Given the description of an element on the screen output the (x, y) to click on. 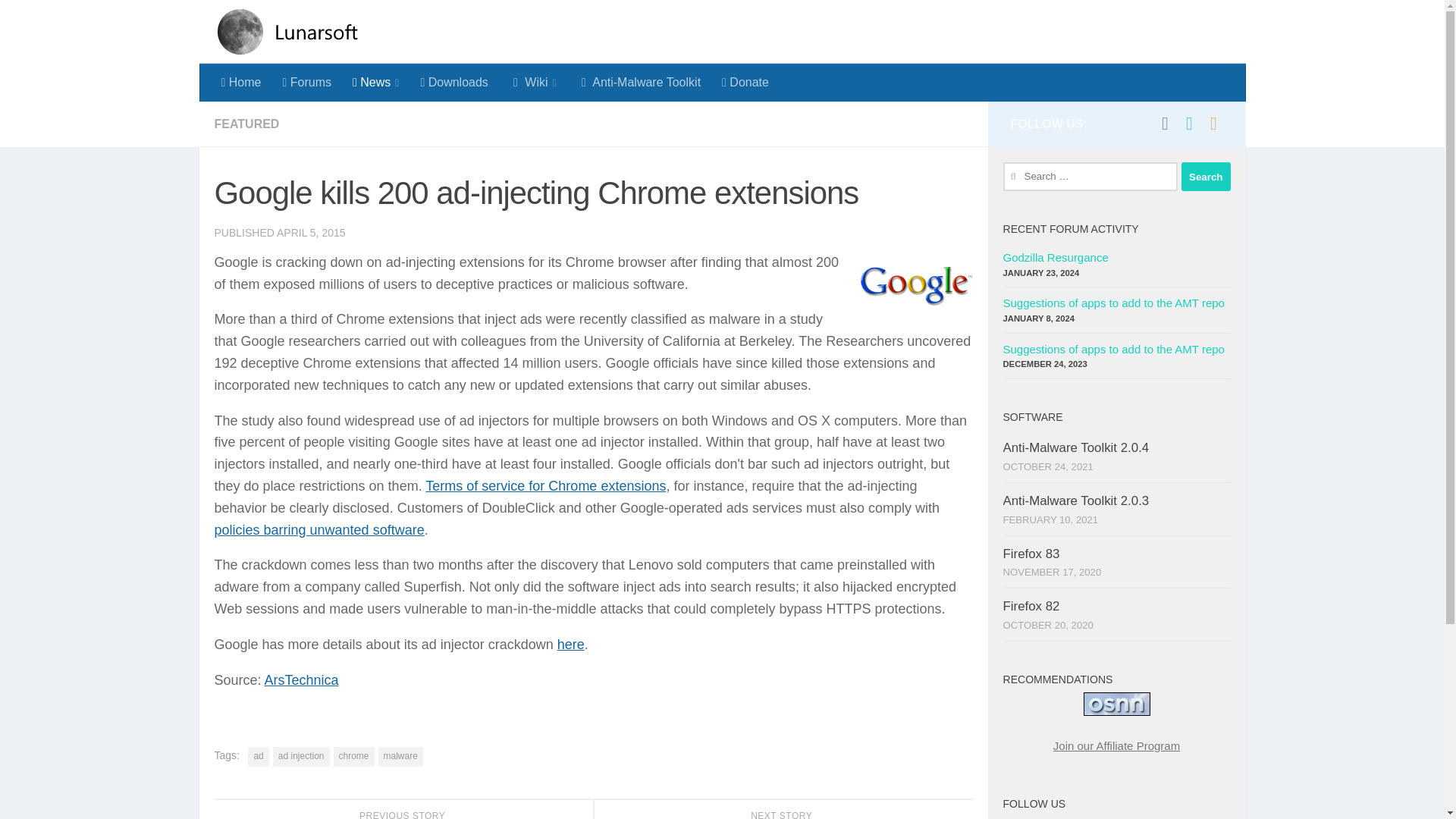
Wiki (533, 82)
Terms of service for Chrome extensions (545, 485)
Skip to content (63, 20)
policies barring unwanted software (318, 529)
Follow us on Facebook-square (1164, 123)
Home (241, 82)
chrome (353, 756)
Search (1205, 176)
Follow our RSS feed (1213, 123)
here (571, 644)
Forums (306, 82)
OSNN - Windows, Linux and Macintosh News (1116, 703)
ad injection (301, 756)
Search (1205, 176)
FEATURED (246, 123)
